Given the description of an element on the screen output the (x, y) to click on. 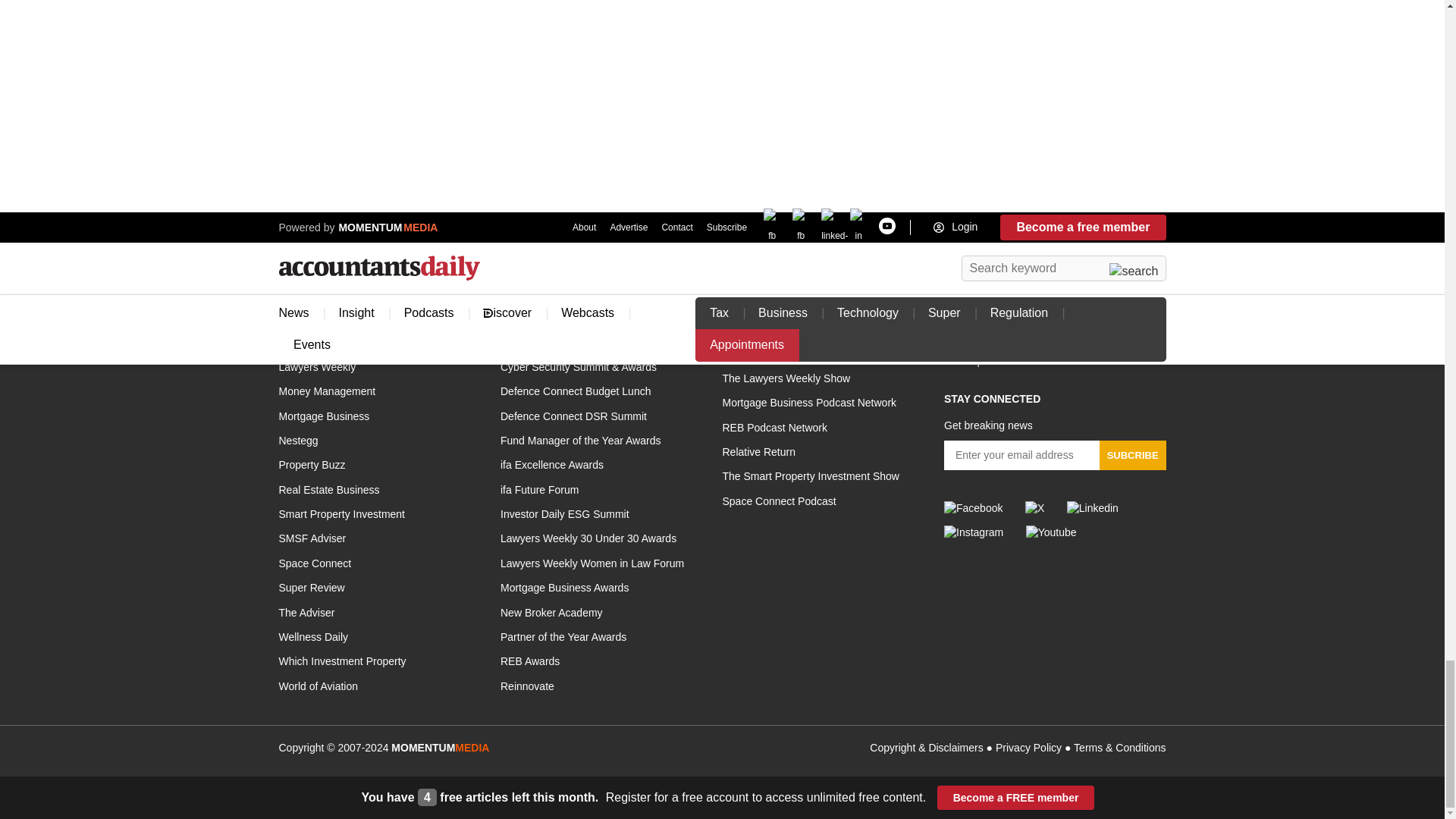
SUBCRIBE (1132, 455)
